Given the description of an element on the screen output the (x, y) to click on. 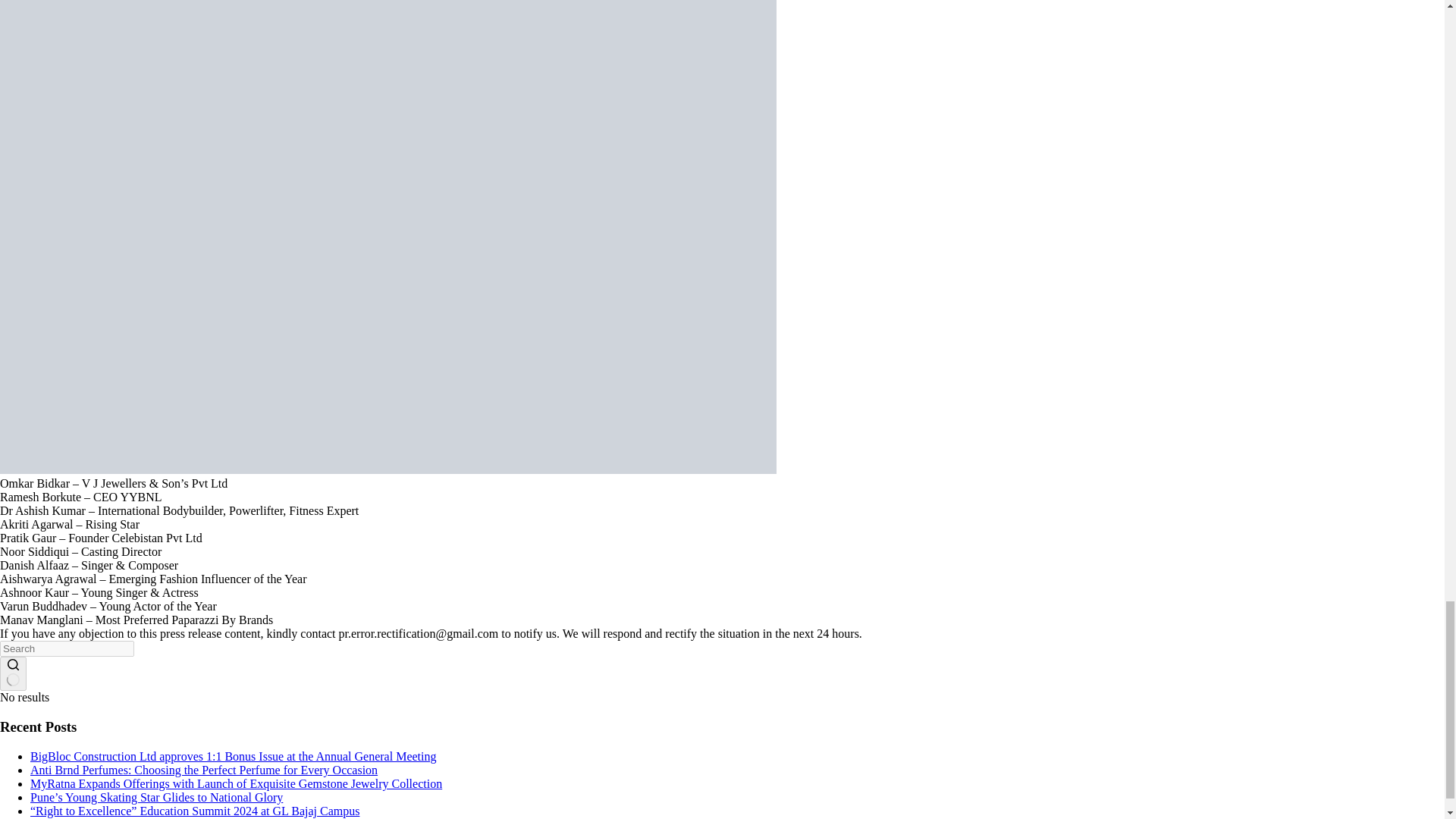
Search for... (66, 648)
